Given the description of an element on the screen output the (x, y) to click on. 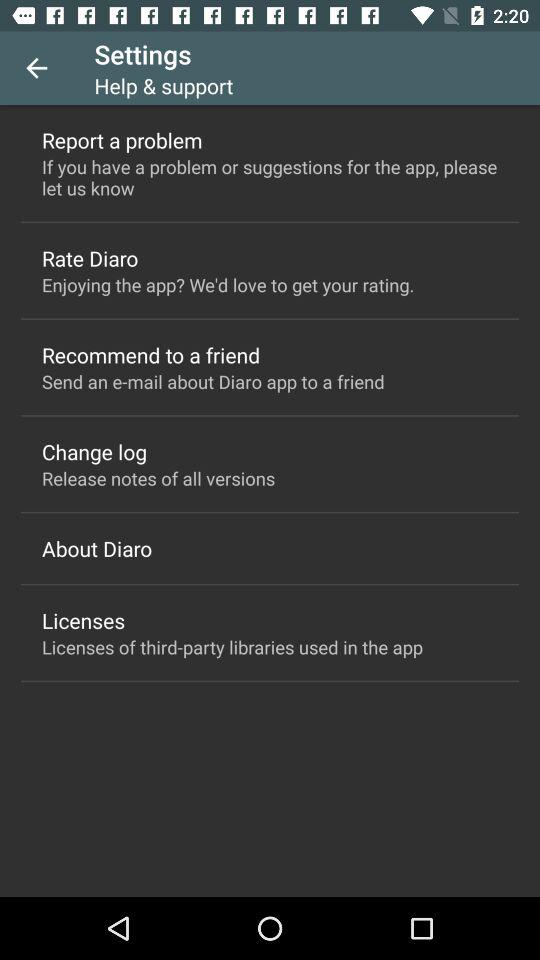
jump to the release notes of item (158, 478)
